Given the description of an element on the screen output the (x, y) to click on. 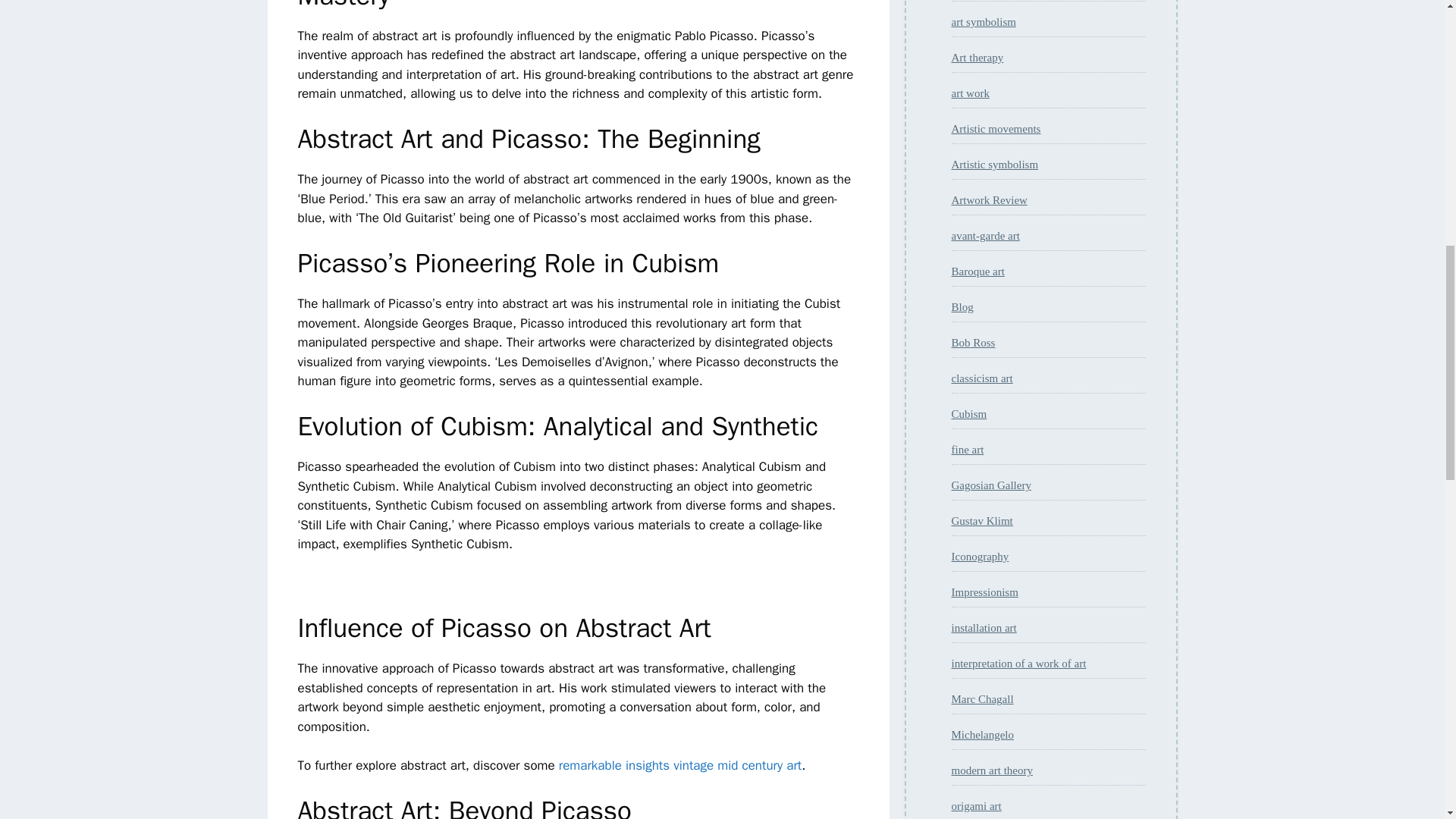
remarkable insights vintage mid century art (680, 765)
